Given the description of an element on the screen output the (x, y) to click on. 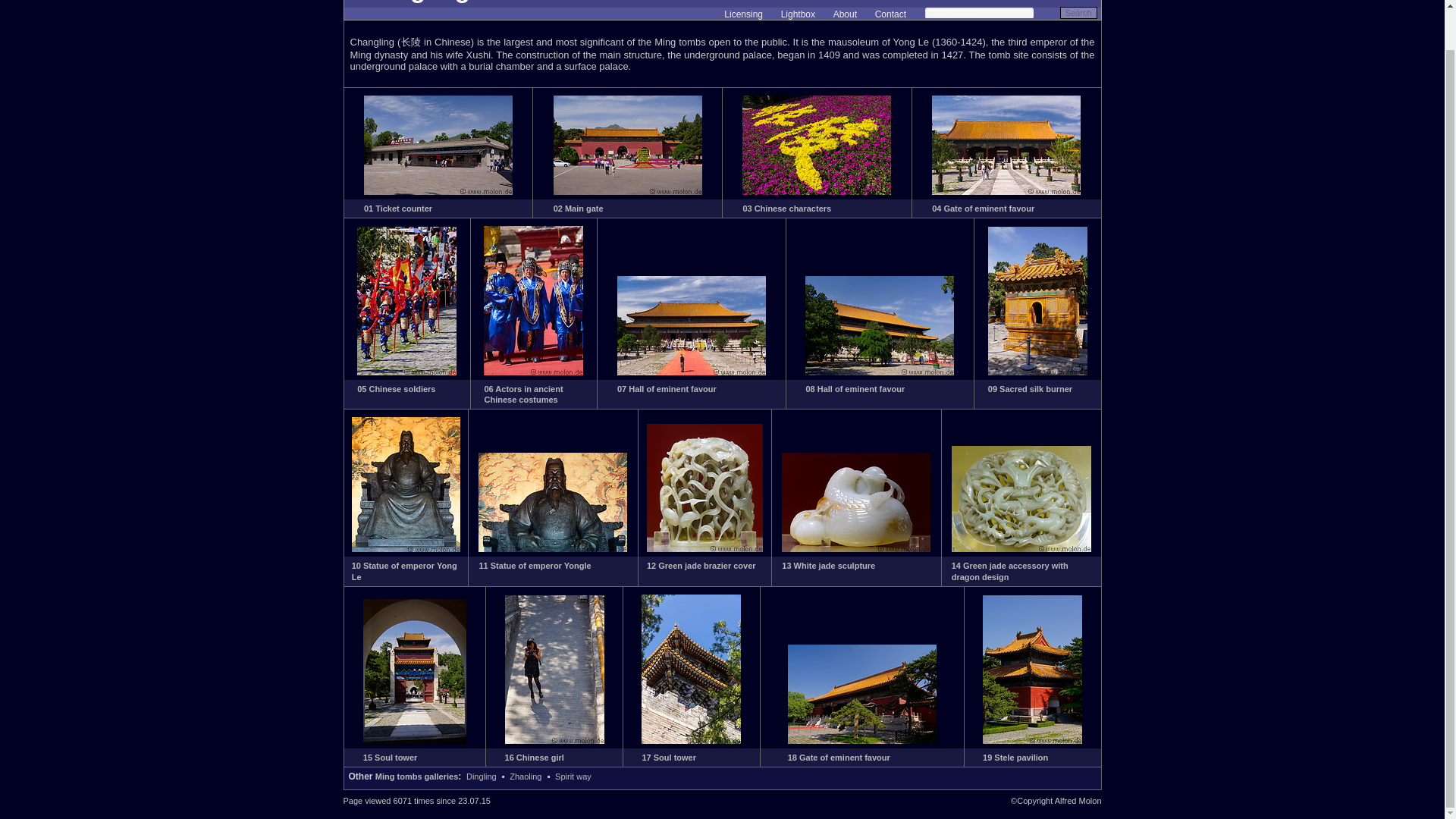
10 Statue of emperor Yong Le (404, 570)
Image CH71867 - click to enlarge (691, 740)
Image CH71855 - click to enlarge (406, 371)
Licensing (743, 14)
09 Sacred silk burner (1029, 388)
13 White jade sculpture (828, 565)
08 Hall of eminent favour (854, 388)
Image CH71863 - click to enlarge (855, 548)
Image CH71862 - click to enlarge (704, 548)
Image CH71861 - click to enlarge (553, 548)
